Given the description of an element on the screen output the (x, y) to click on. 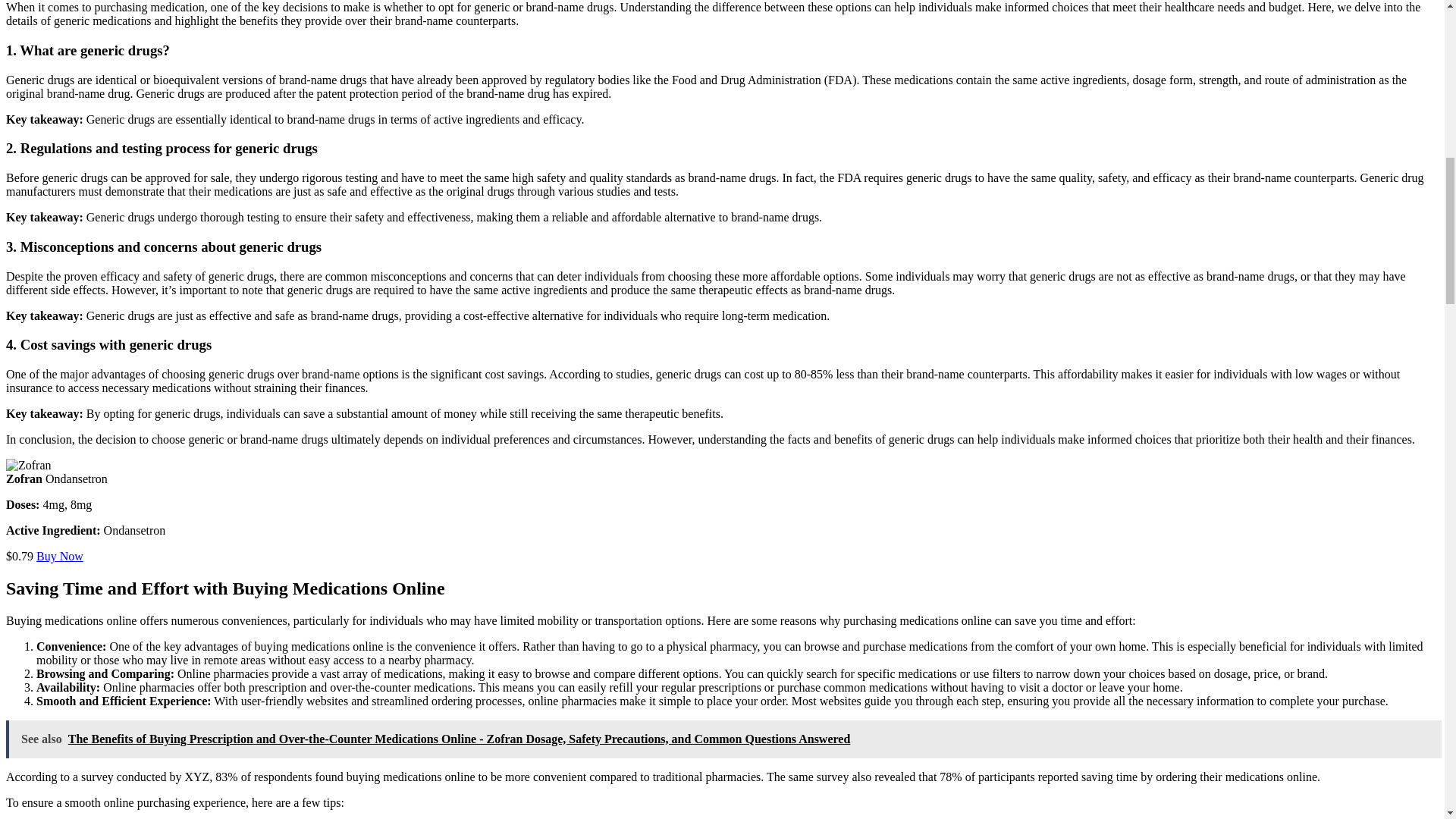
Buy Now (59, 555)
